Given the description of an element on the screen output the (x, y) to click on. 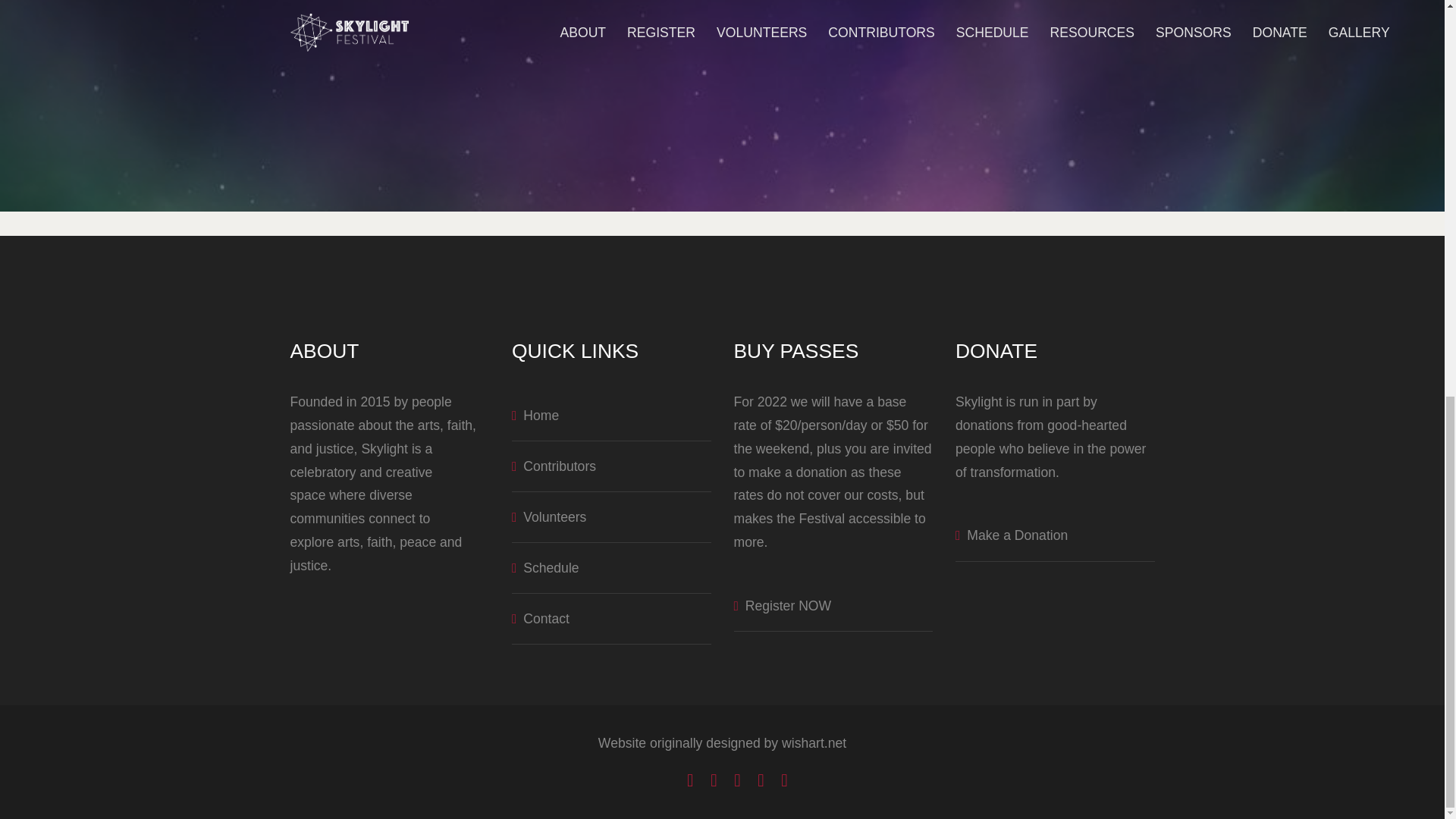
Volunteers (549, 516)
Facebook (690, 780)
YouTube (737, 780)
Schedule (545, 567)
Contact (540, 618)
Contributors (553, 466)
Twitter (713, 780)
Make a Donation (1011, 534)
Instagram (760, 780)
Register NOW (782, 605)
Home (535, 415)
Flickr (783, 780)
